Given the description of an element on the screen output the (x, y) to click on. 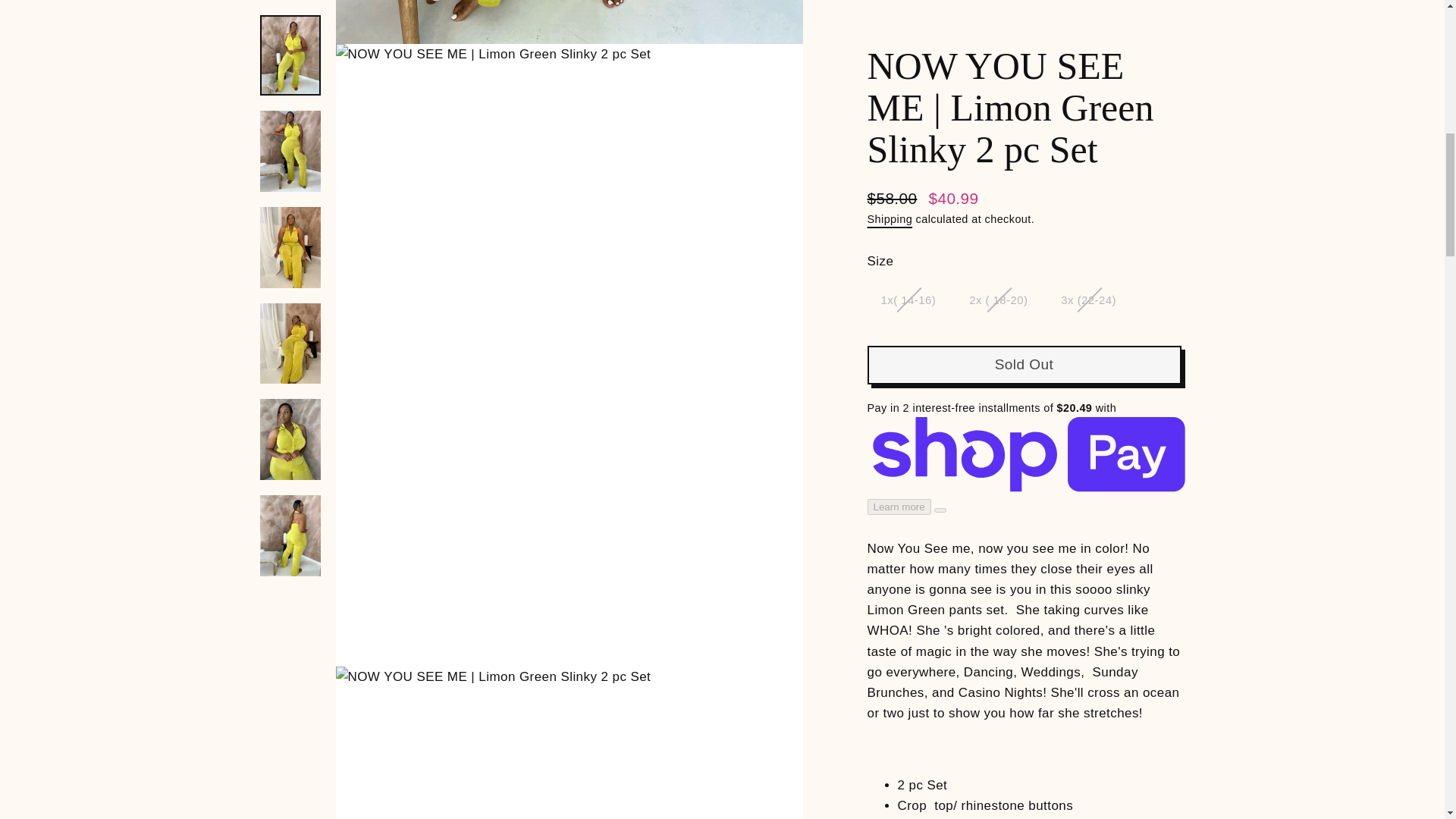
Share on Facebook (952, 589)
Pin on Pinterest (1103, 589)
Tweet on Twitter (1028, 589)
MENU (162, 46)
